Given the description of an element on the screen output the (x, y) to click on. 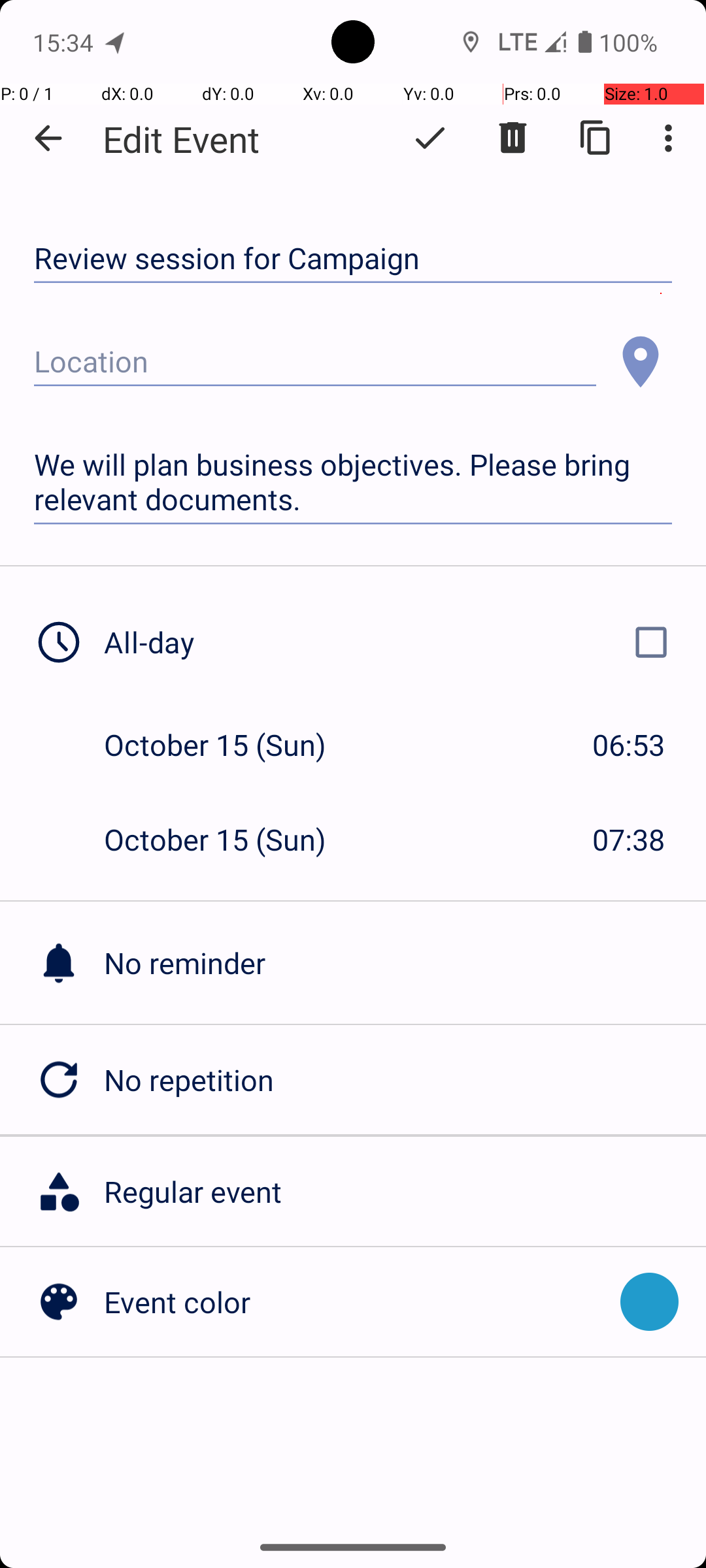
We will plan business objectives. Please bring relevant documents. Element type: android.widget.EditText (352, 482)
06:53 Element type: android.widget.TextView (628, 744)
07:38 Element type: android.widget.TextView (628, 838)
